Given the description of an element on the screen output the (x, y) to click on. 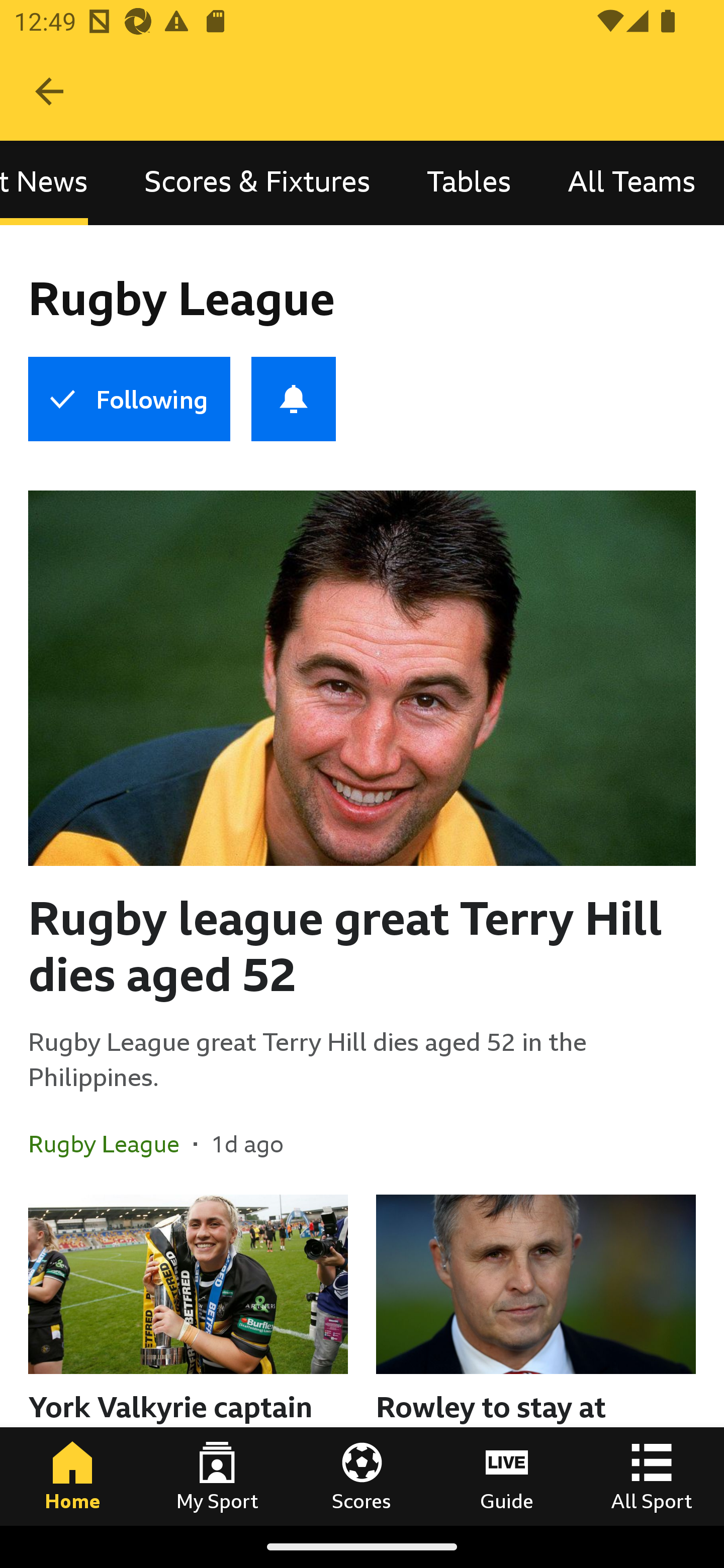
Navigate up (49, 91)
Scores & Fixtures (256, 183)
Tables (468, 183)
All Teams (631, 183)
Following Rugby League Following (129, 398)
Push notifications for Rugby League (293, 398)
My Sport (216, 1475)
Scores (361, 1475)
Guide (506, 1475)
All Sport (651, 1475)
